Given the description of an element on the screen output the (x, y) to click on. 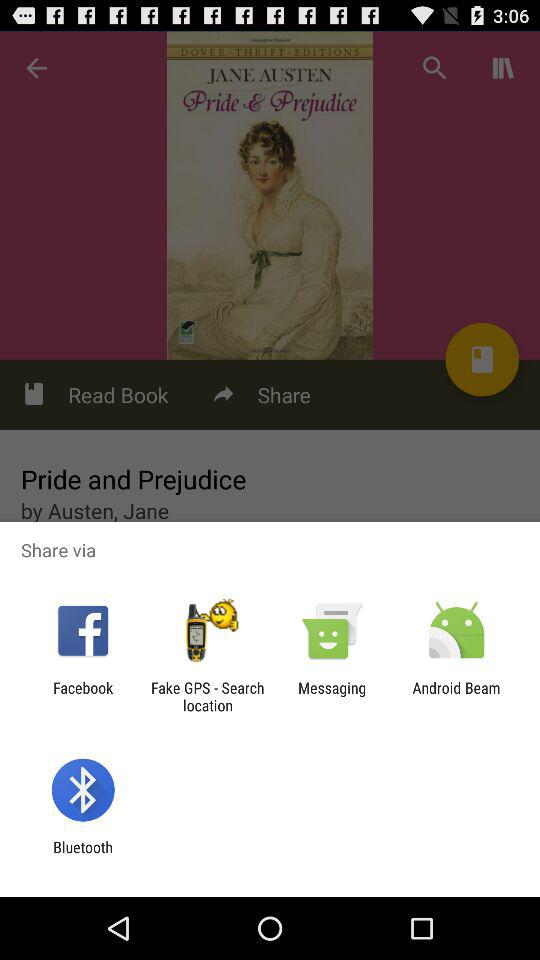
swipe until messaging icon (332, 696)
